Given the description of an element on the screen output the (x, y) to click on. 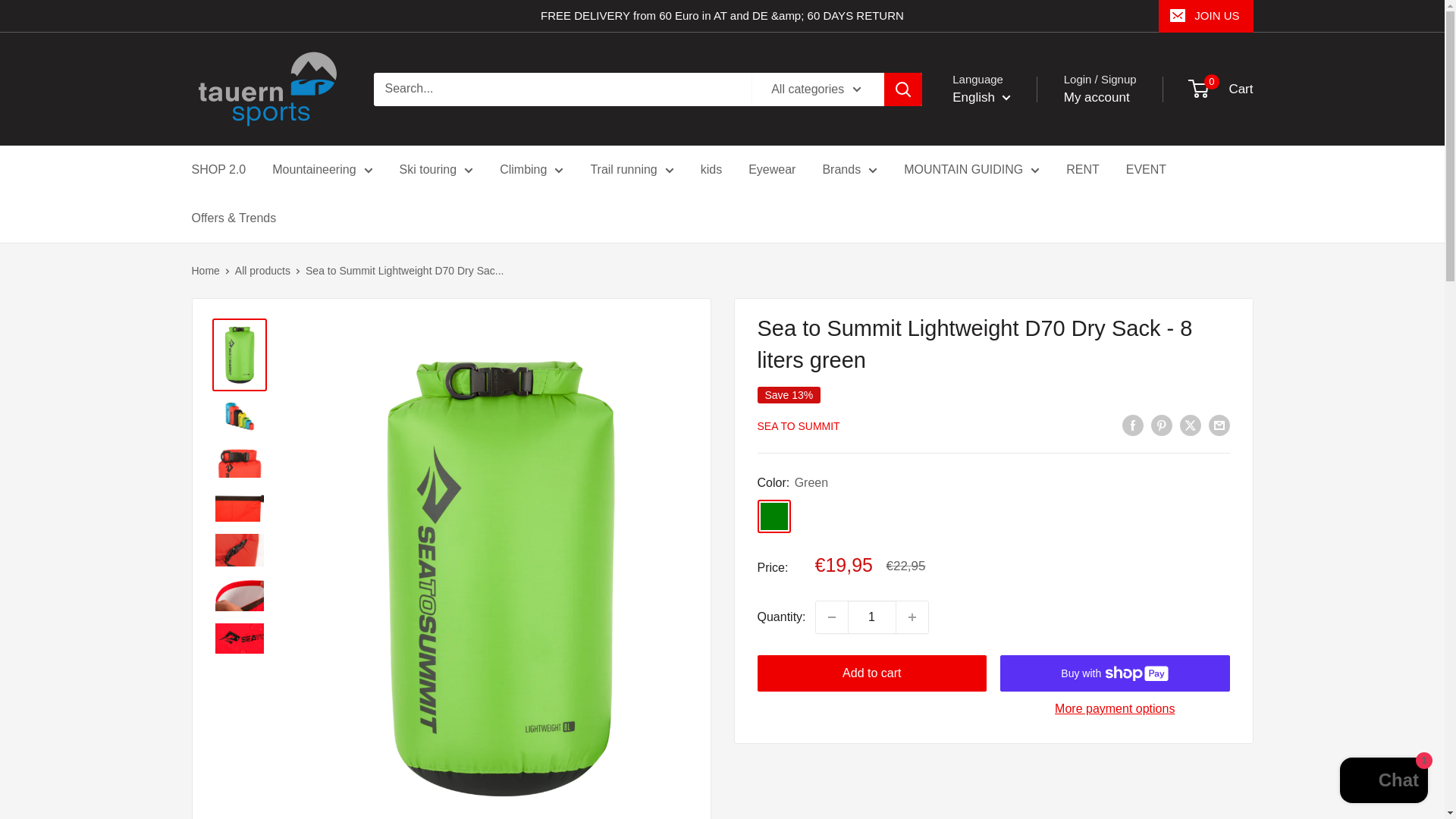
Shopify online store chat (1383, 781)
JOIN US (1205, 15)
Decrease quantity by 1 (831, 617)
Increase quantity by 1 (912, 617)
Green (773, 515)
1 (871, 617)
